Given the description of an element on the screen output the (x, y) to click on. 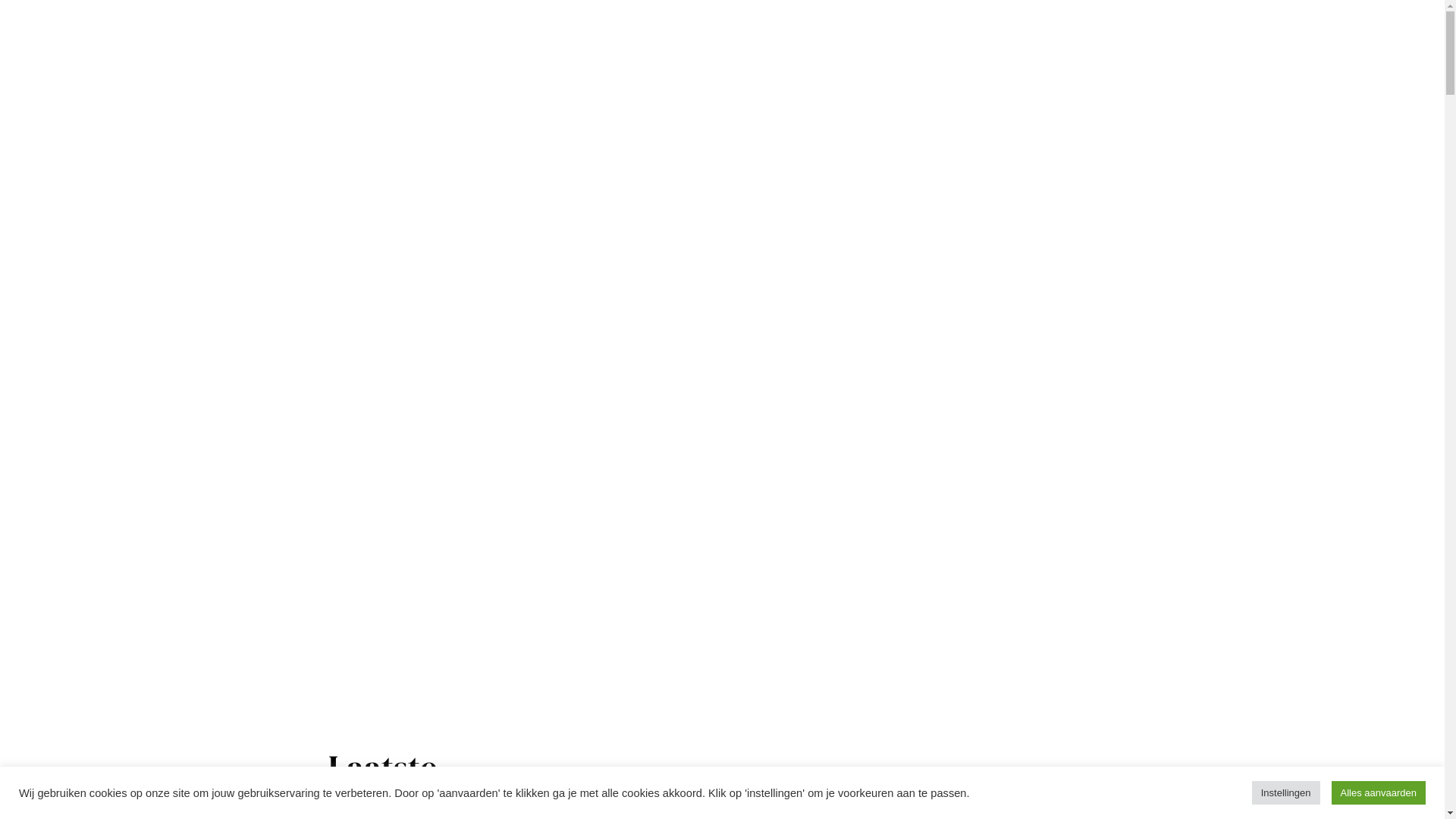
Instellingen Element type: text (1286, 792)
Alles aanvaarden Element type: text (1378, 792)
